Given the description of an element on the screen output the (x, y) to click on. 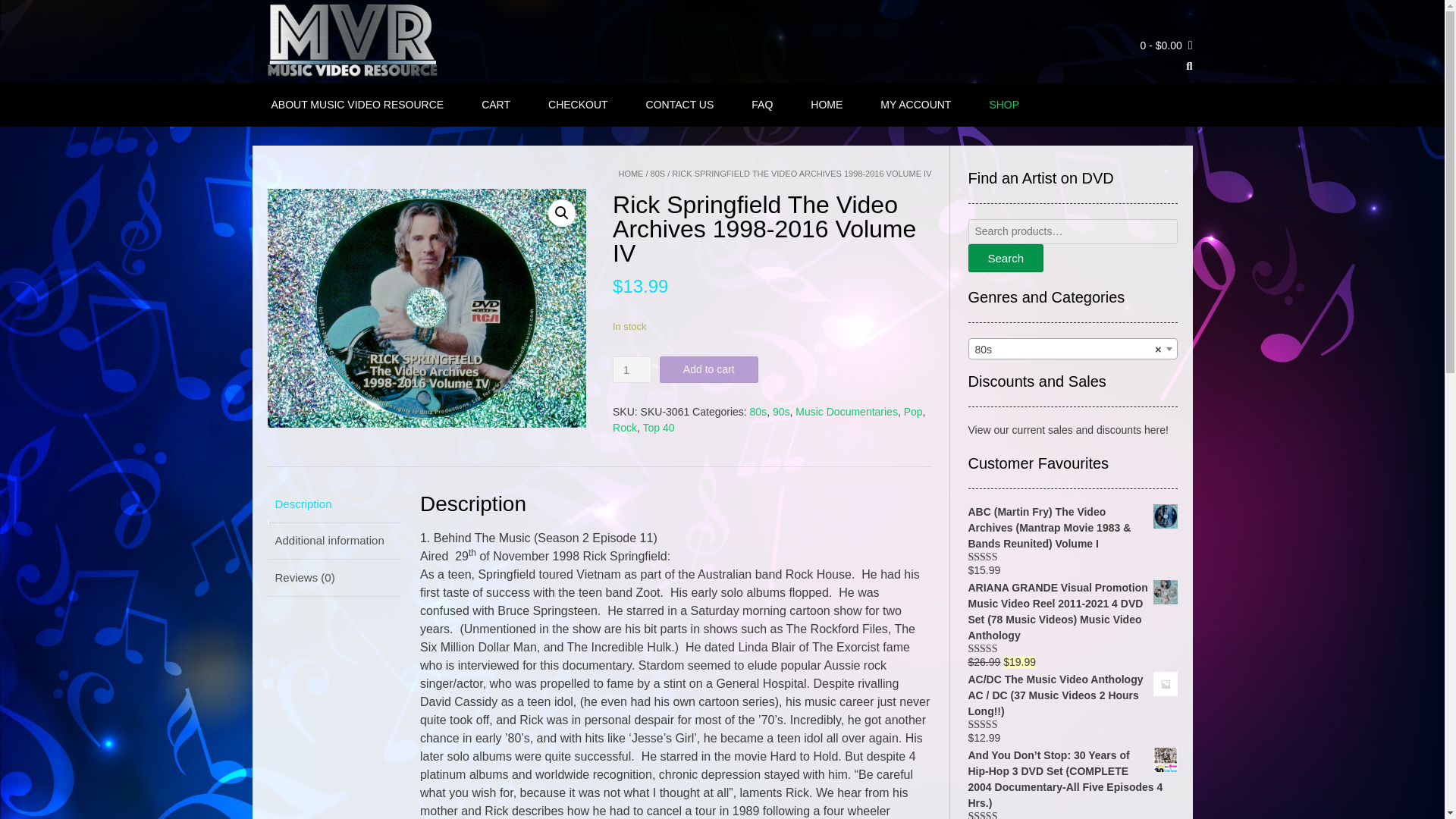
View your shopping cart (1166, 45)
HOME (630, 173)
SHOP (1003, 104)
Rock (624, 427)
Top 40 (658, 427)
Description (333, 503)
HOME (825, 104)
80S (657, 173)
90s (781, 411)
MY ACCOUNT (915, 104)
Additional information (333, 541)
Pop (913, 411)
1 (631, 369)
View our current sales and discounts here! (1067, 429)
CONTACT US (679, 104)
